Given the description of an element on the screen output the (x, y) to click on. 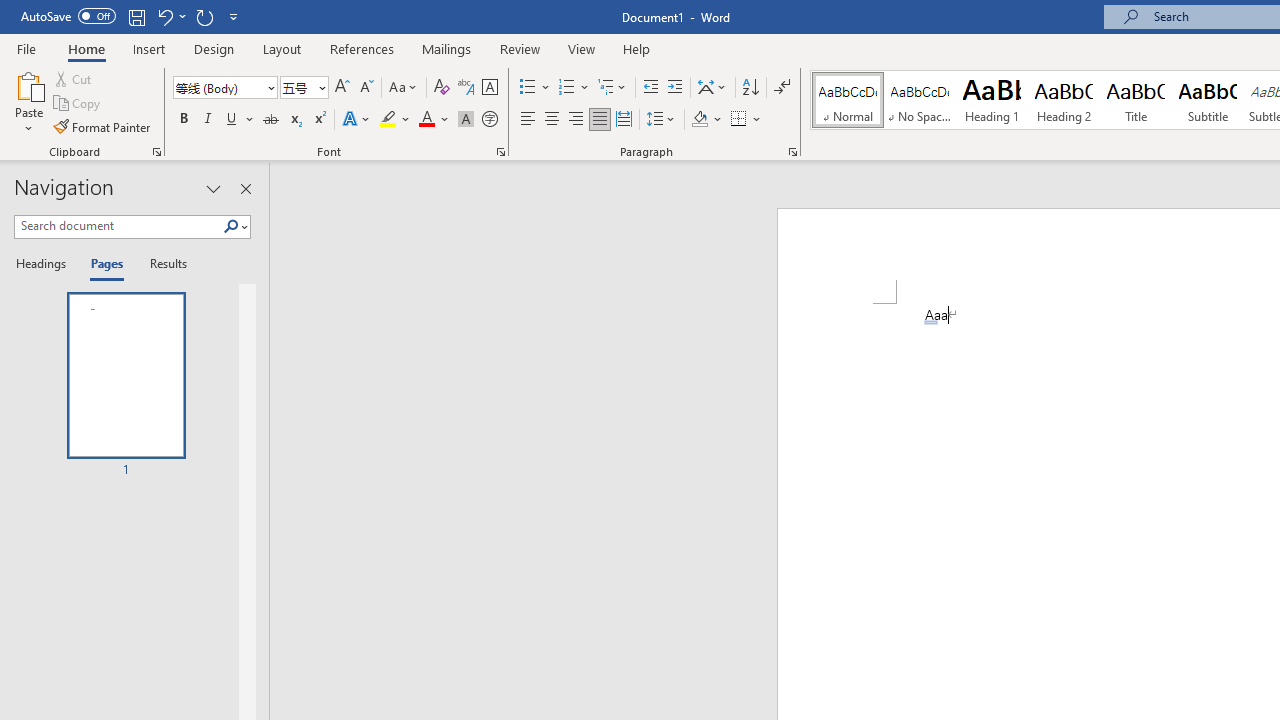
Paste (28, 102)
Font Size (297, 87)
Heading 1 (991, 100)
Insert (149, 48)
Font Size (304, 87)
Numbering (566, 87)
File Tab (26, 48)
Home (86, 48)
Results (161, 264)
Change Case (404, 87)
Subtitle (1208, 100)
Distributed (623, 119)
Pages (105, 264)
Copy (78, 103)
Undo Style (170, 15)
